Given the description of an element on the screen output the (x, y) to click on. 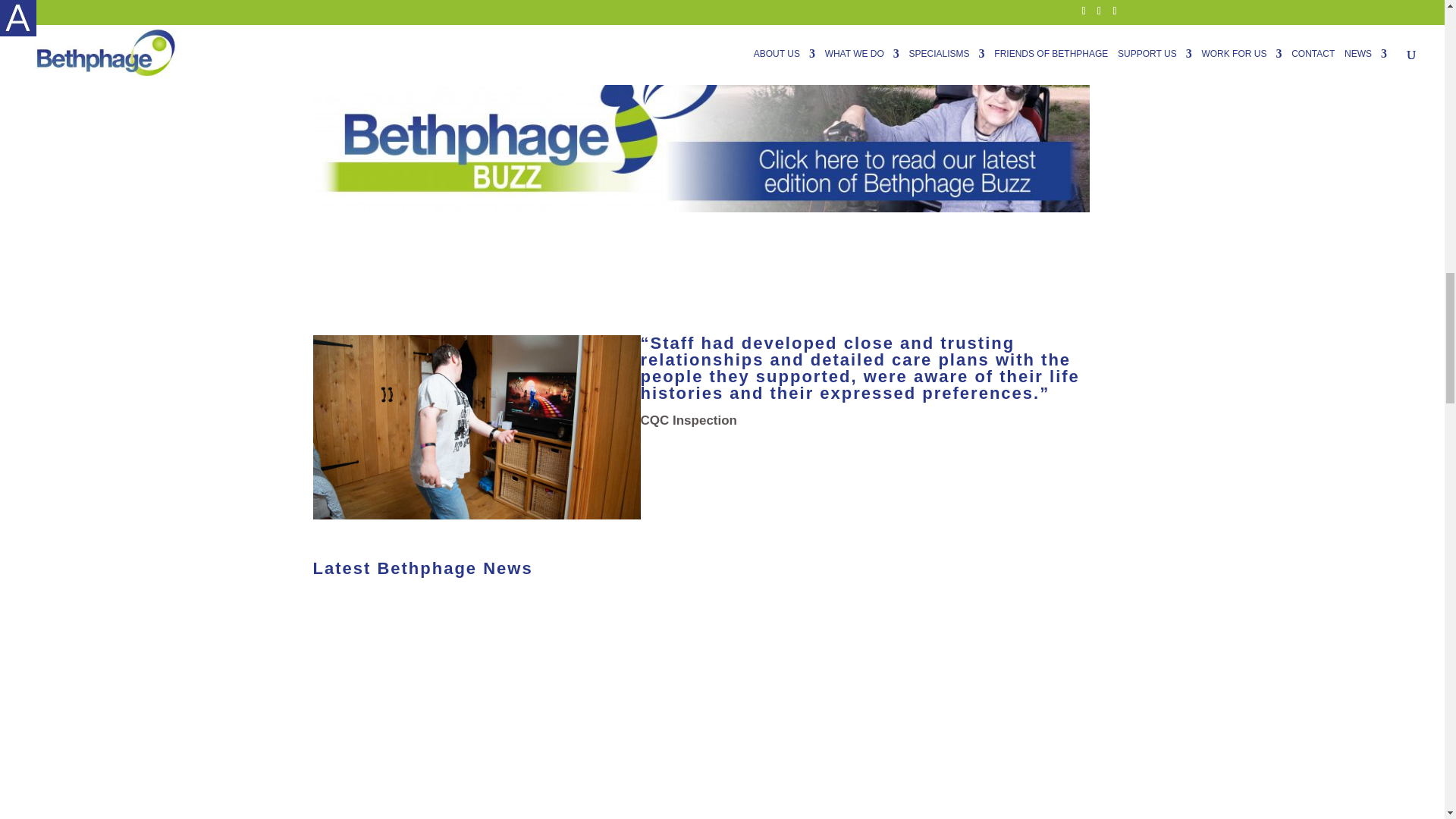
Interactive games (476, 426)
